Given the description of an element on the screen output the (x, y) to click on. 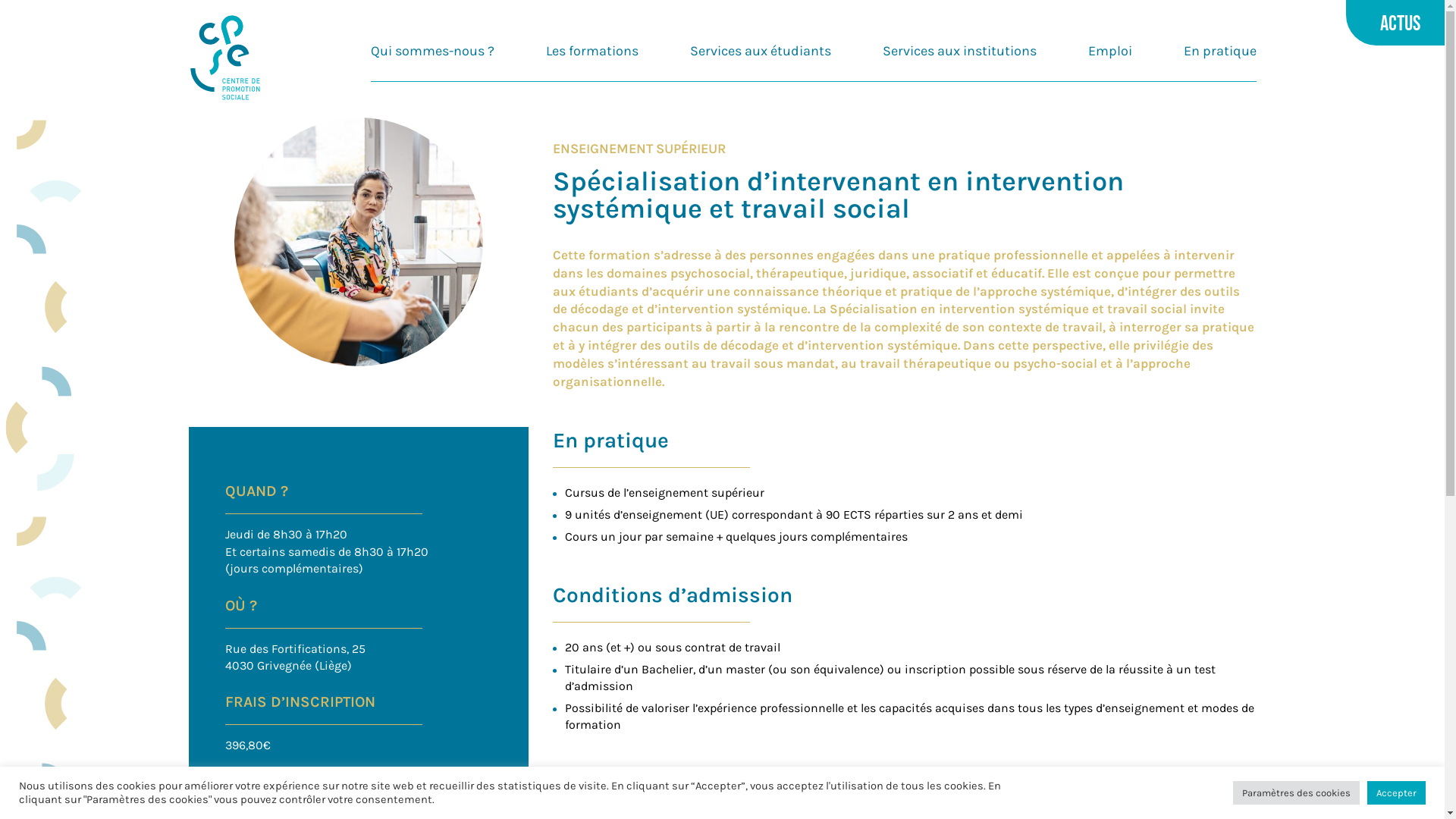
En pratique Element type: text (1219, 47)
Qui sommes-nous ? Element type: text (431, 47)
Accepter Element type: text (1396, 792)
CPSE Element type: hover (224, 57)
CPSE Element type: hover (224, 58)
Services aux institutions Element type: text (959, 47)
Les formations Element type: text (592, 47)
Emploi Element type: text (1109, 47)
